Given the description of an element on the screen output the (x, y) to click on. 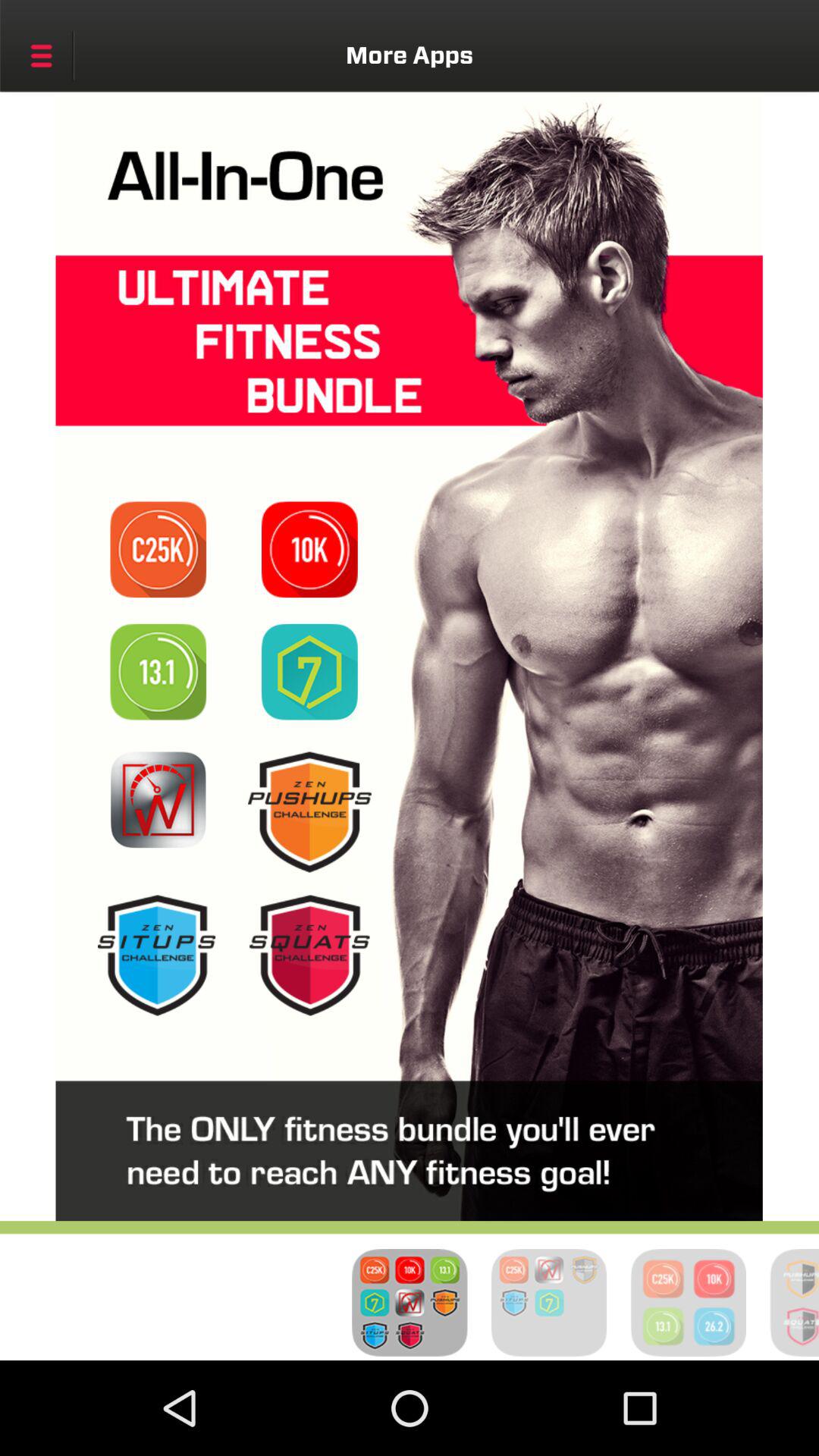
weight tracking button (158, 799)
